Given the description of an element on the screen output the (x, y) to click on. 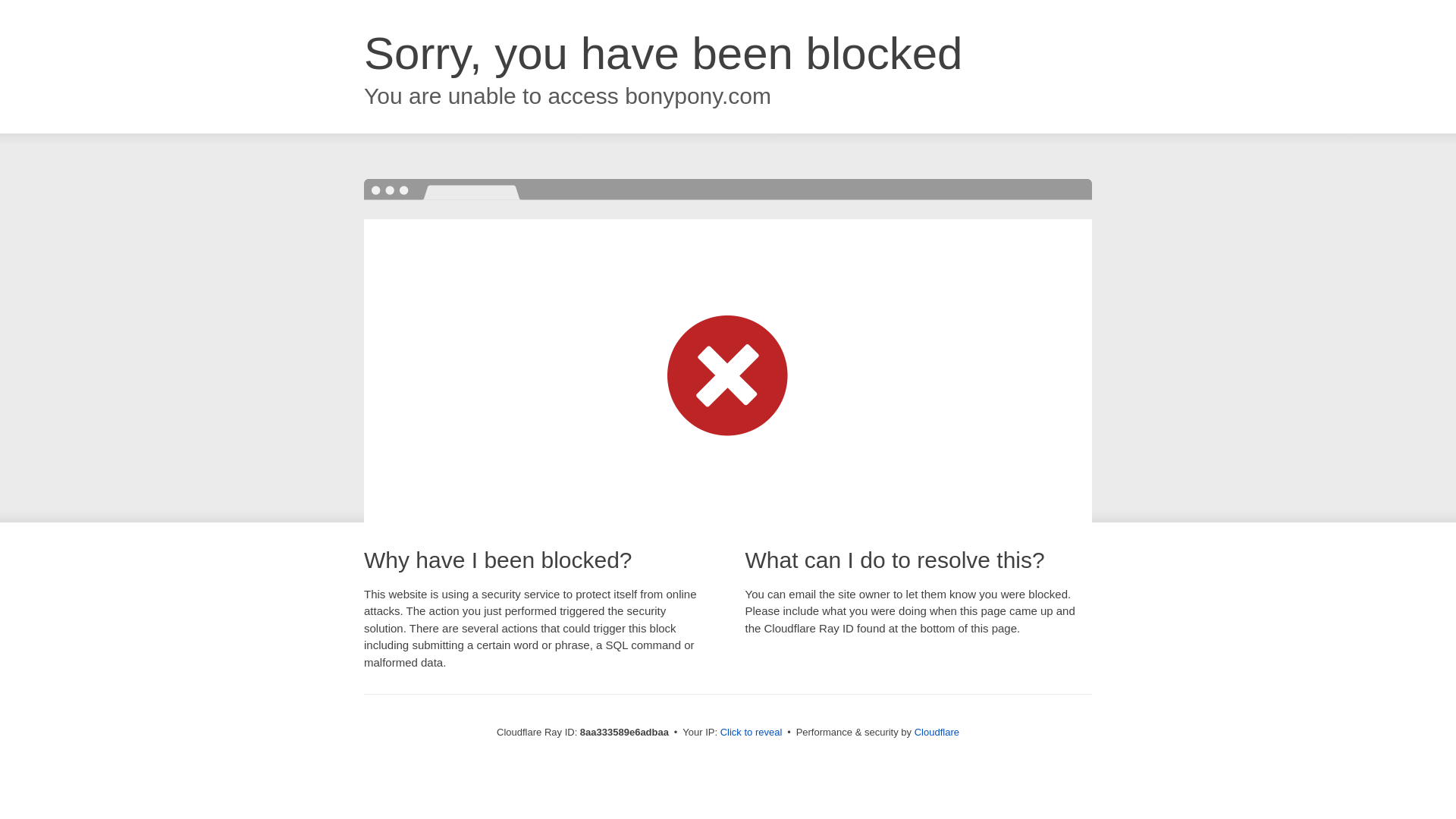
Cloudflare (936, 731)
Click to reveal (751, 732)
